Given the description of an element on the screen output the (x, y) to click on. 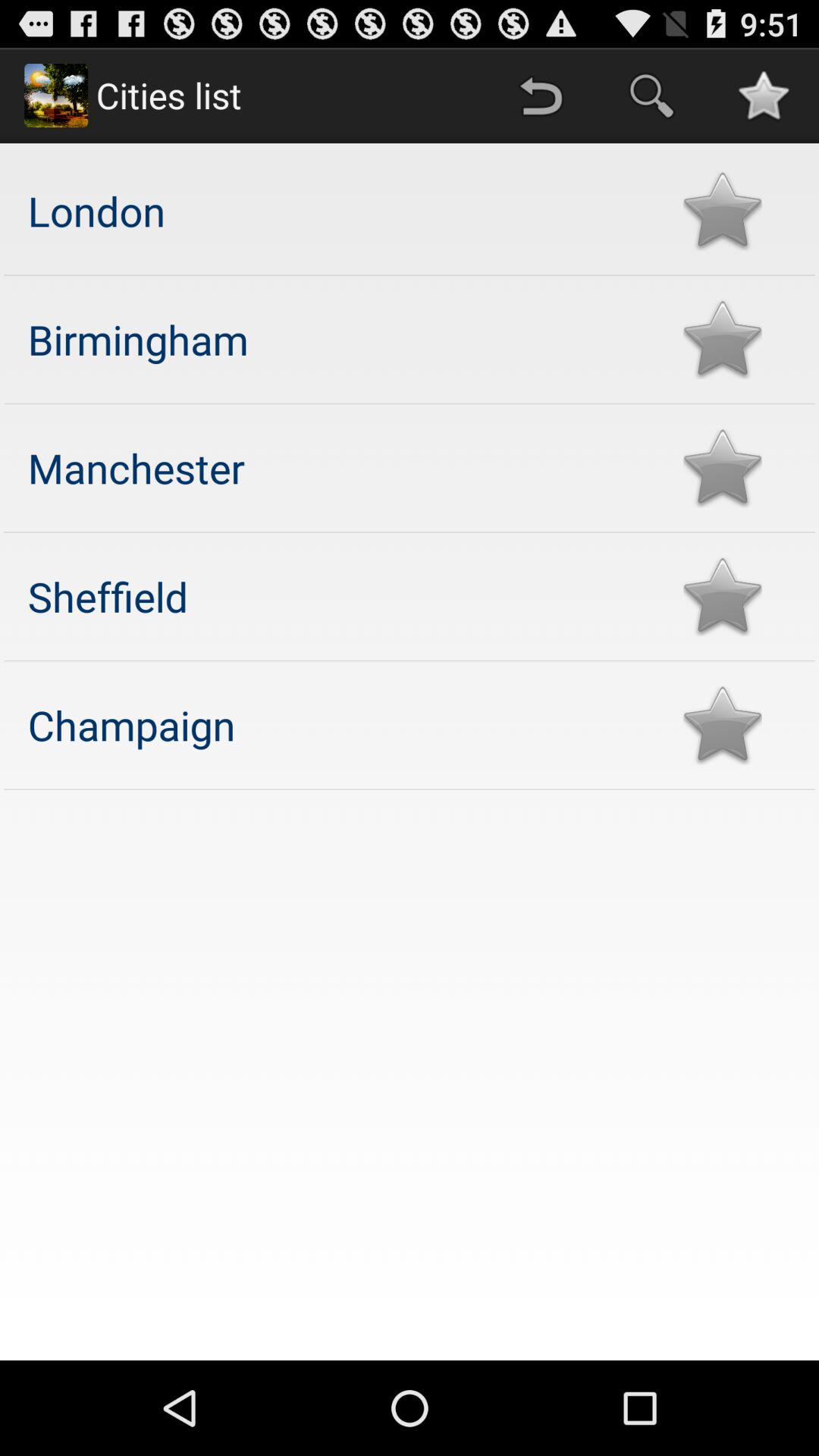
choose the london item (340, 210)
